Given the description of an element on the screen output the (x, y) to click on. 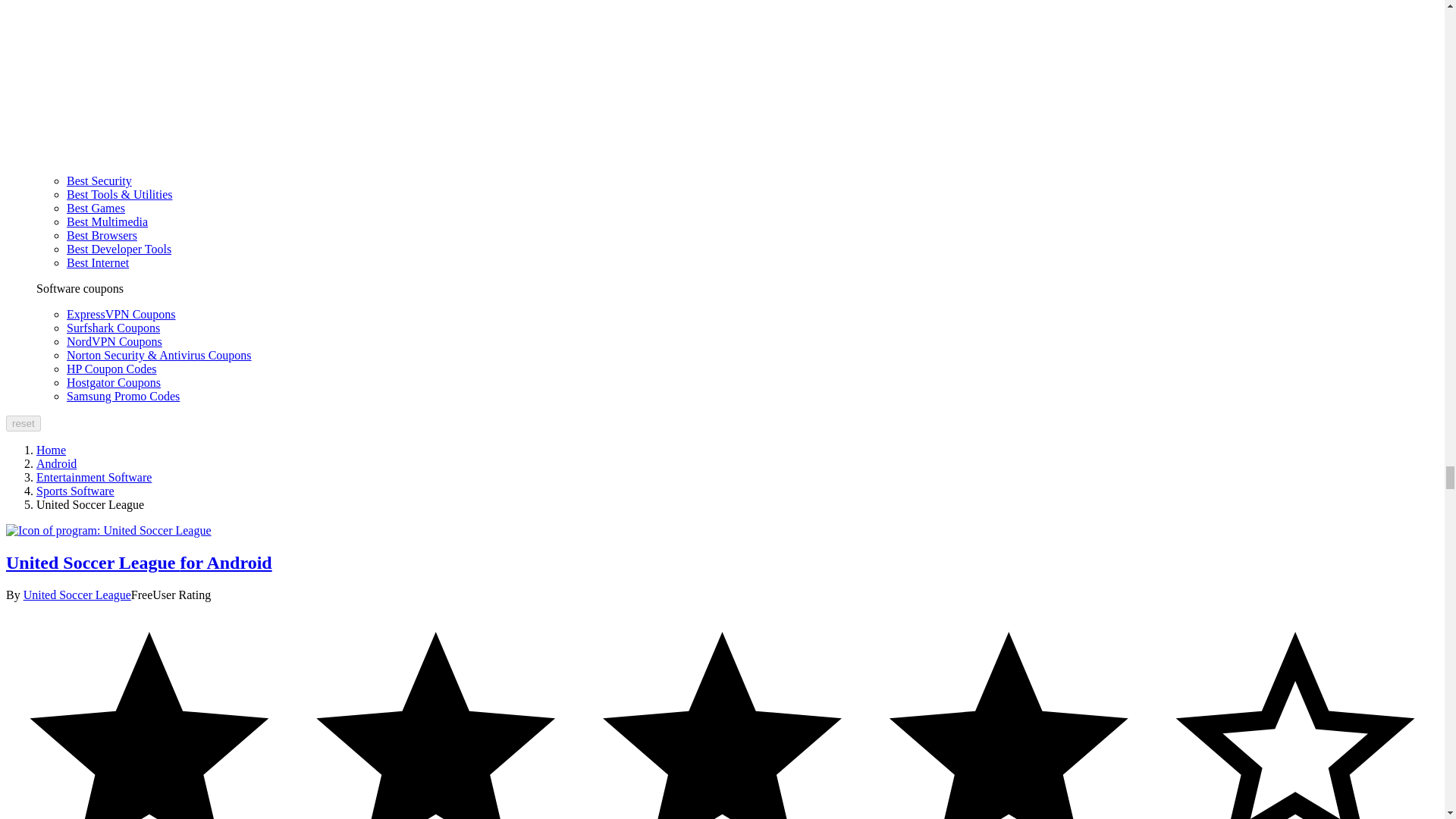
United Soccer League for Android (108, 530)
reset (22, 423)
